Given the description of an element on the screen output the (x, y) to click on. 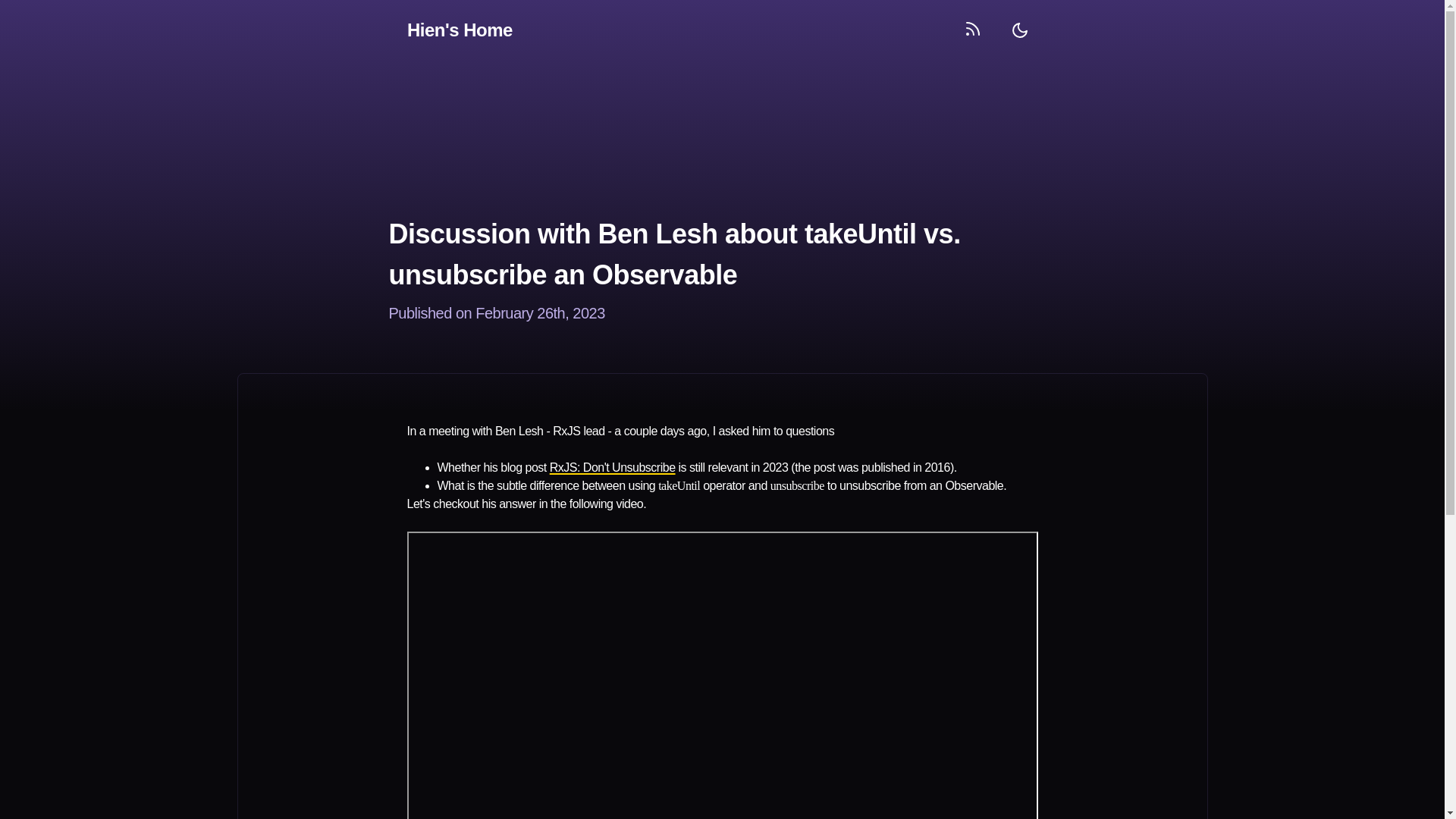
Hien's Home (459, 30)
View RSS feed (970, 30)
RxJS: Don't Unsubscribe (612, 467)
